Given the description of an element on the screen output the (x, y) to click on. 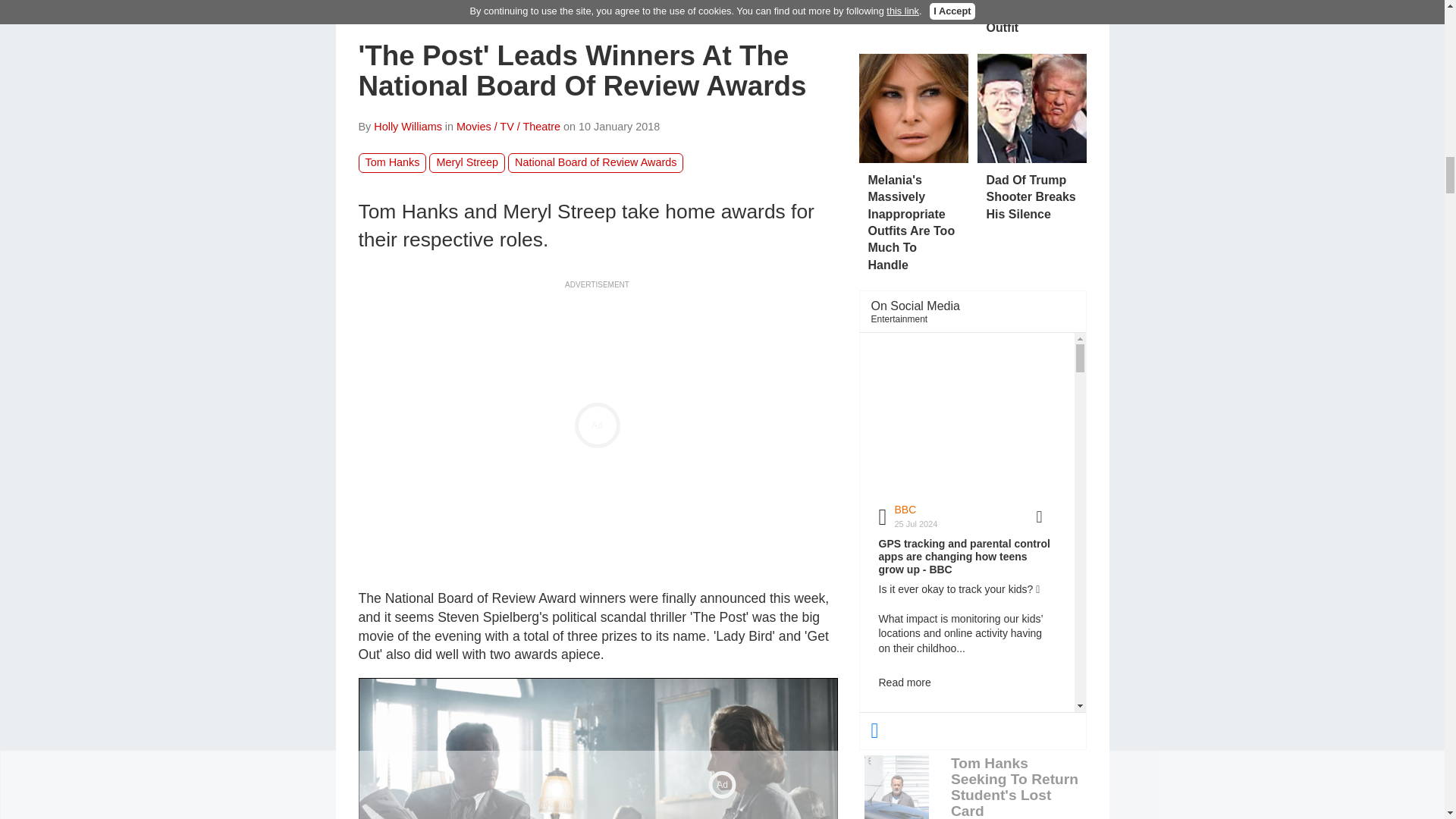
Tom Hanks and Meryl Streep in 'The Post' (597, 748)
